Given the description of an element on the screen output the (x, y) to click on. 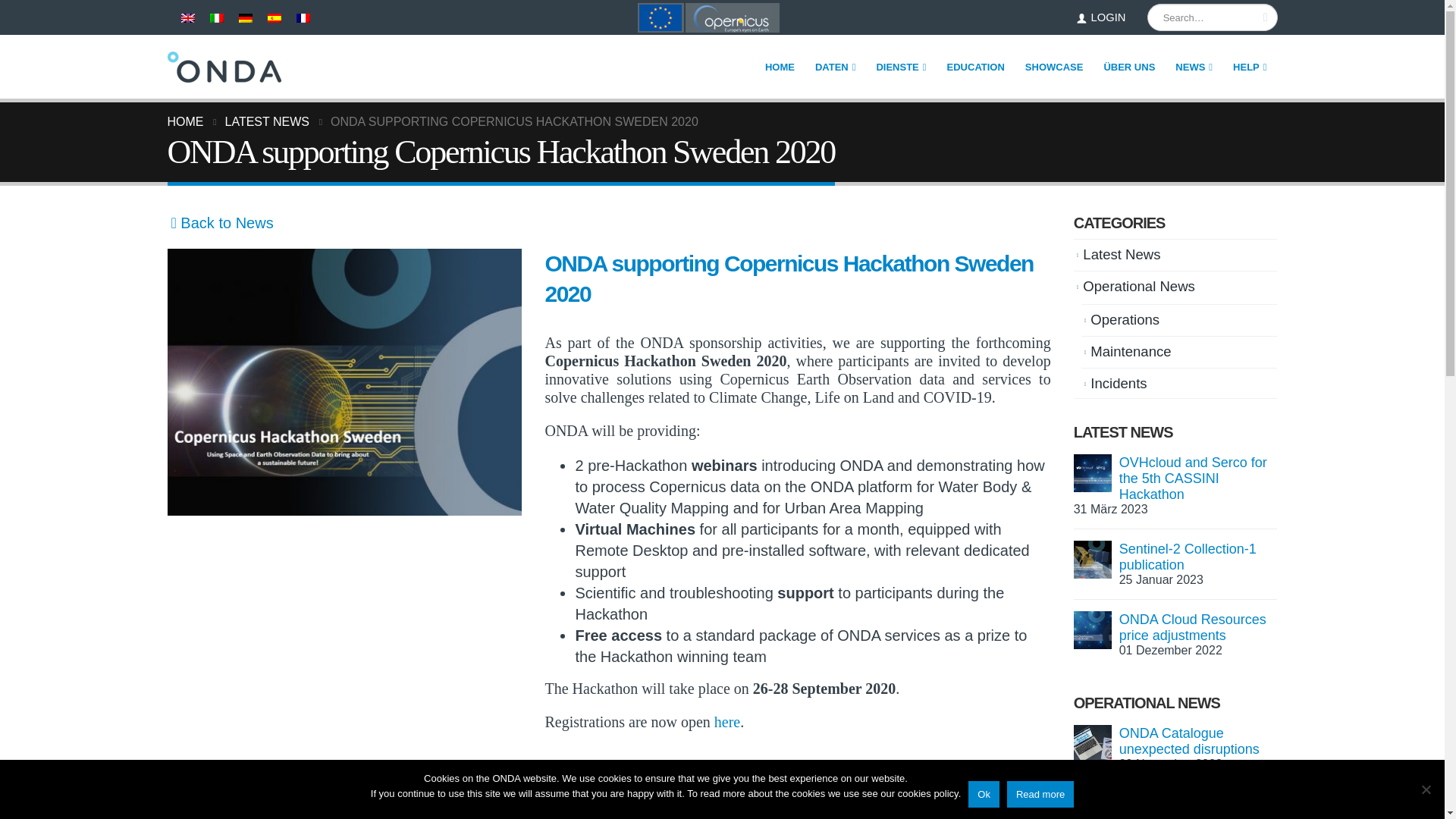
EDUCATION (975, 66)
SHOWCASE (1053, 66)
English (186, 17)
Deutsch (244, 17)
Italiano (215, 17)
NEWS (1194, 66)
ONDA-DIAS - People on data (224, 66)
DIENSTE (901, 66)
HELP (1249, 66)
DATEN (835, 66)
HOME (780, 66)
